Given the description of an element on the screen output the (x, y) to click on. 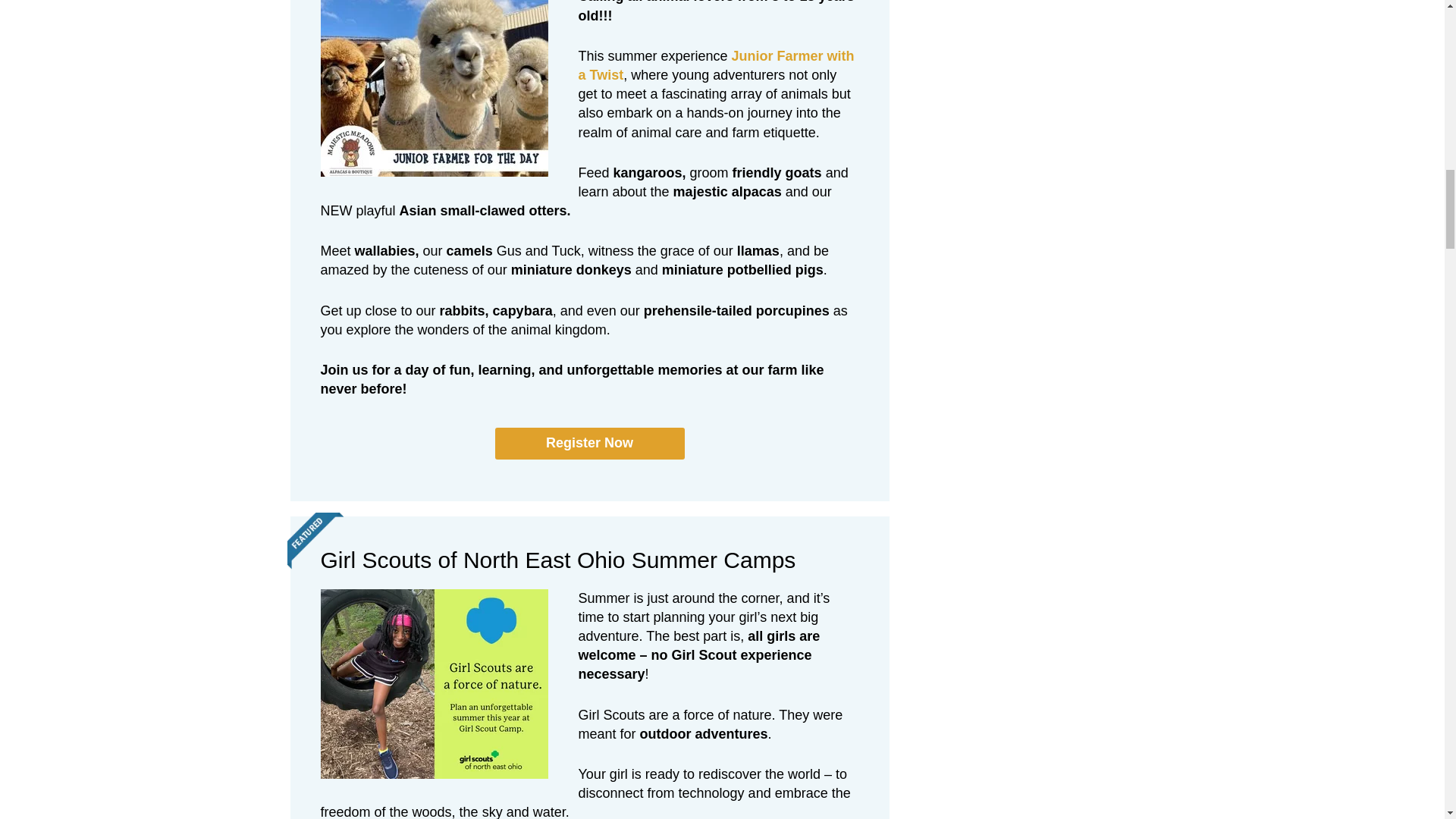
Register Now (589, 442)
Junior Farmer with a Twist (715, 65)
